Given the description of an element on the screen output the (x, y) to click on. 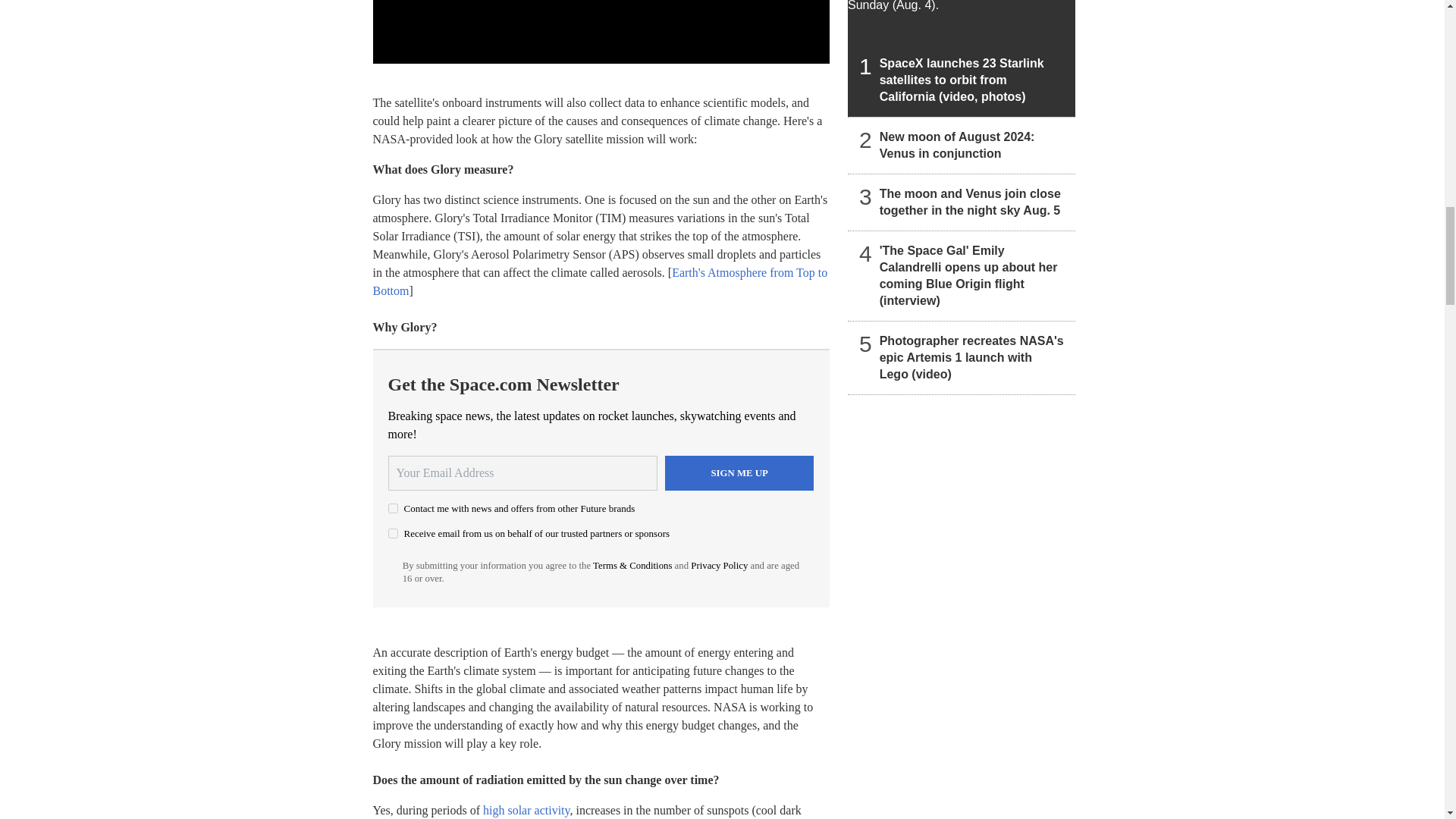
on (392, 533)
on (392, 508)
Sign me up (739, 472)
